Given the description of an element on the screen output the (x, y) to click on. 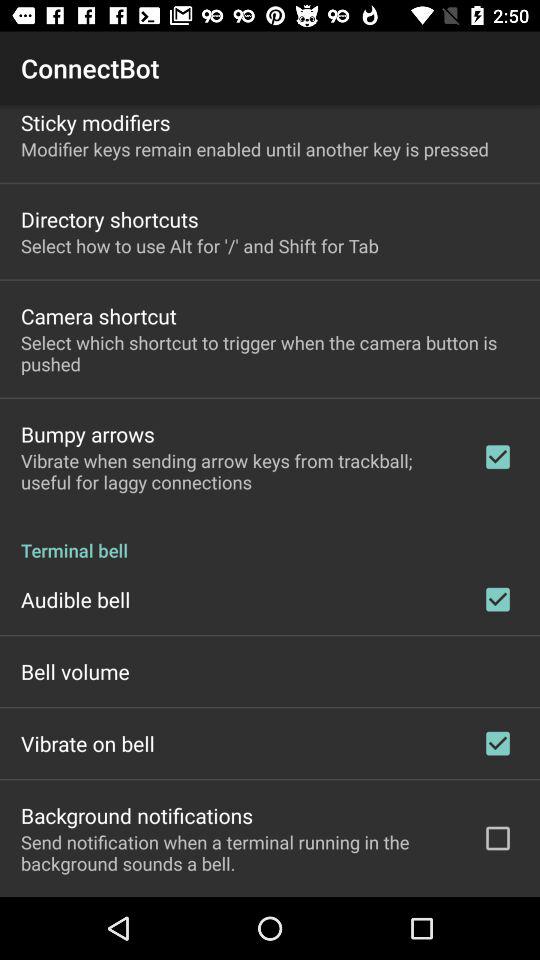
jump to the vibrate on bell app (87, 743)
